Given the description of an element on the screen output the (x, y) to click on. 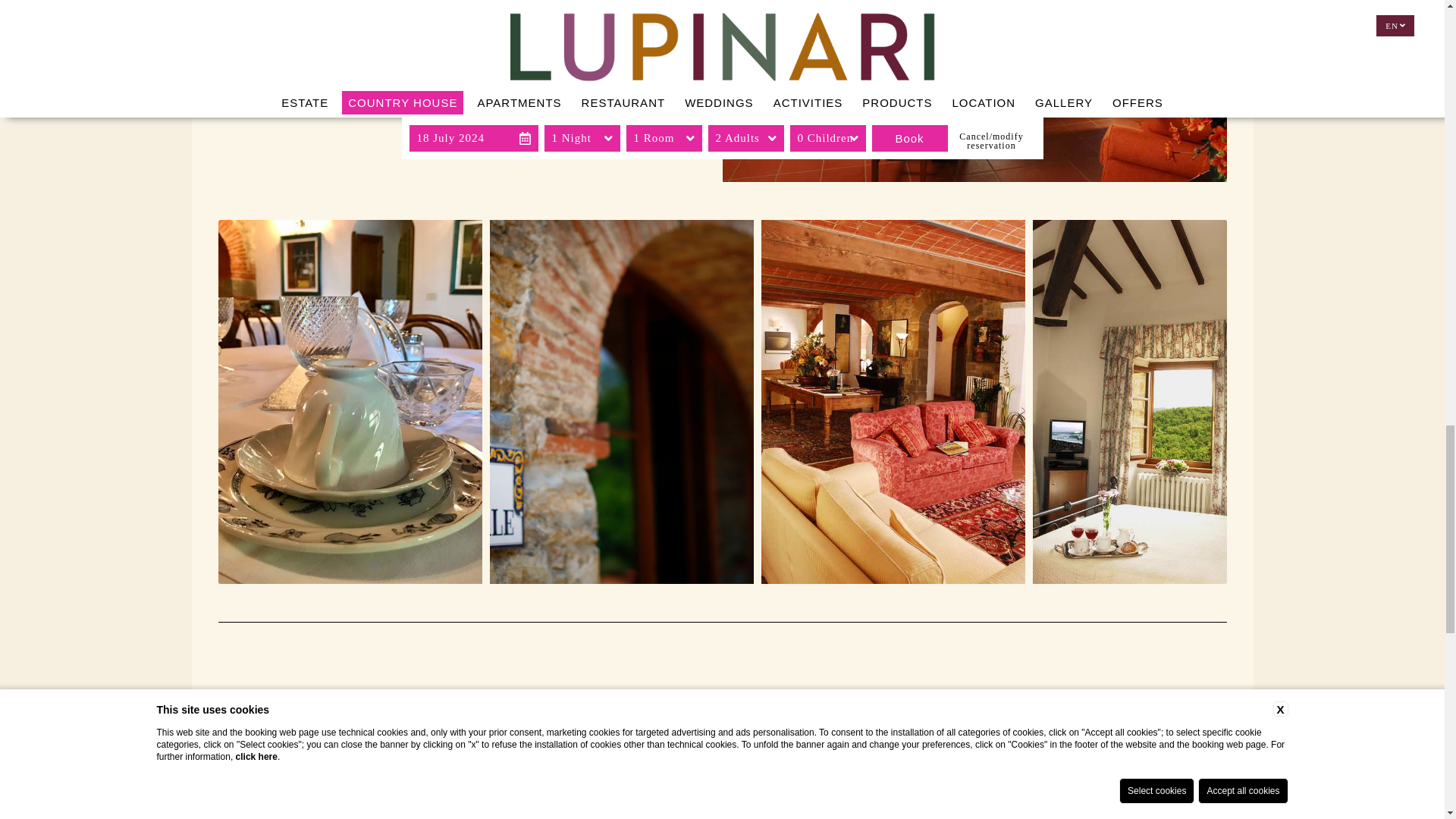
Country house (973, 90)
